Given the description of an element on the screen output the (x, y) to click on. 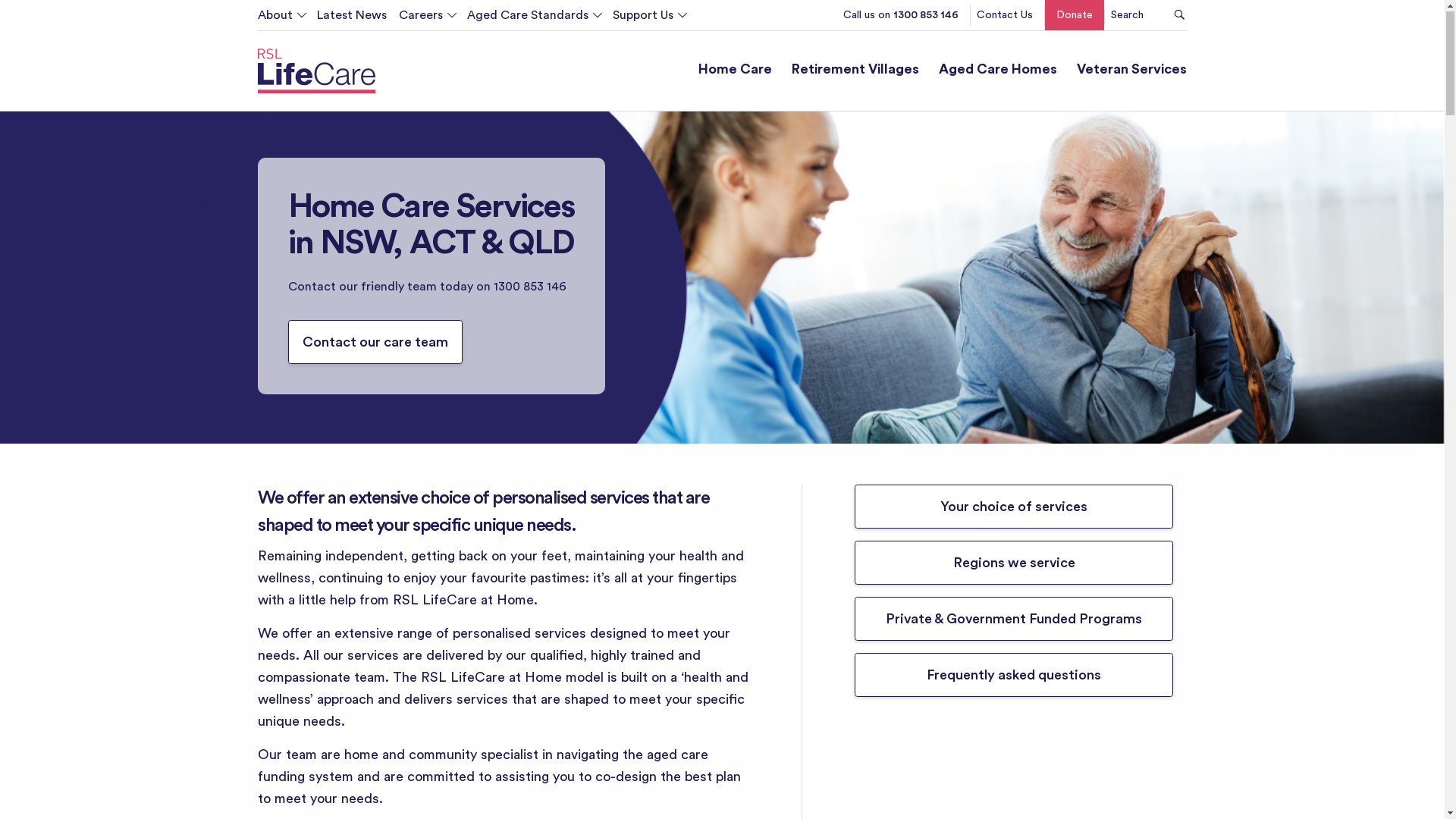
Donate Element type: text (1074, 18)
Retirement Villages Element type: text (855, 74)
Veteran Services Element type: text (1131, 74)
Aged Care Homes Element type: text (997, 74)
Your choice of services Element type: text (1013, 510)
Latest News Element type: text (345, 18)
RSL LifeCare Story Element type: text (374, 48)
Home Care Element type: text (734, 74)
Contact Us Element type: text (1004, 18)
Private & Government Funded Programs Element type: text (1013, 622)
Aged Care Standards Element type: text (527, 18)
Call us on 1300 853 146 Element type: text (900, 18)
Aged Care Quality Standards Element type: text (571, 48)
Careers Element type: text (420, 18)
Frequently asked questions Element type: text (1013, 678)
Support Us Element type: text (642, 18)
Donate Element type: text (716, 48)
1300 853 146 Element type: text (529, 289)
Positions available Element type: text (502, 48)
Contact our care team Element type: text (375, 345)
Regions we service Element type: text (1013, 566)
About Element type: text (280, 18)
